Given the description of an element on the screen output the (x, y) to click on. 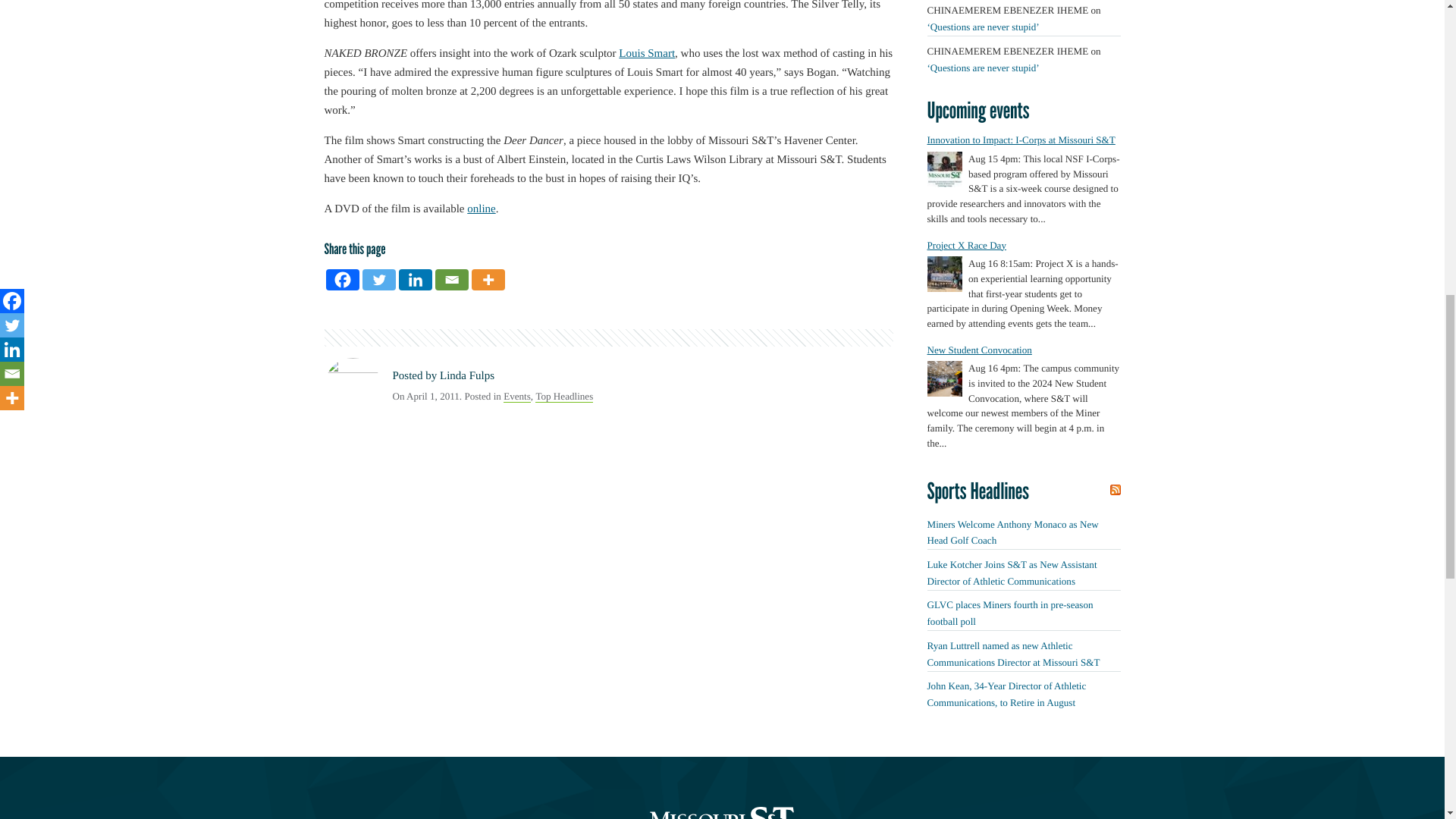
Posts by Linda Fulps (467, 376)
Email (451, 279)
Facebook (342, 279)
Linkedin (415, 279)
Twitter (379, 279)
More (488, 279)
